Given the description of an element on the screen output the (x, y) to click on. 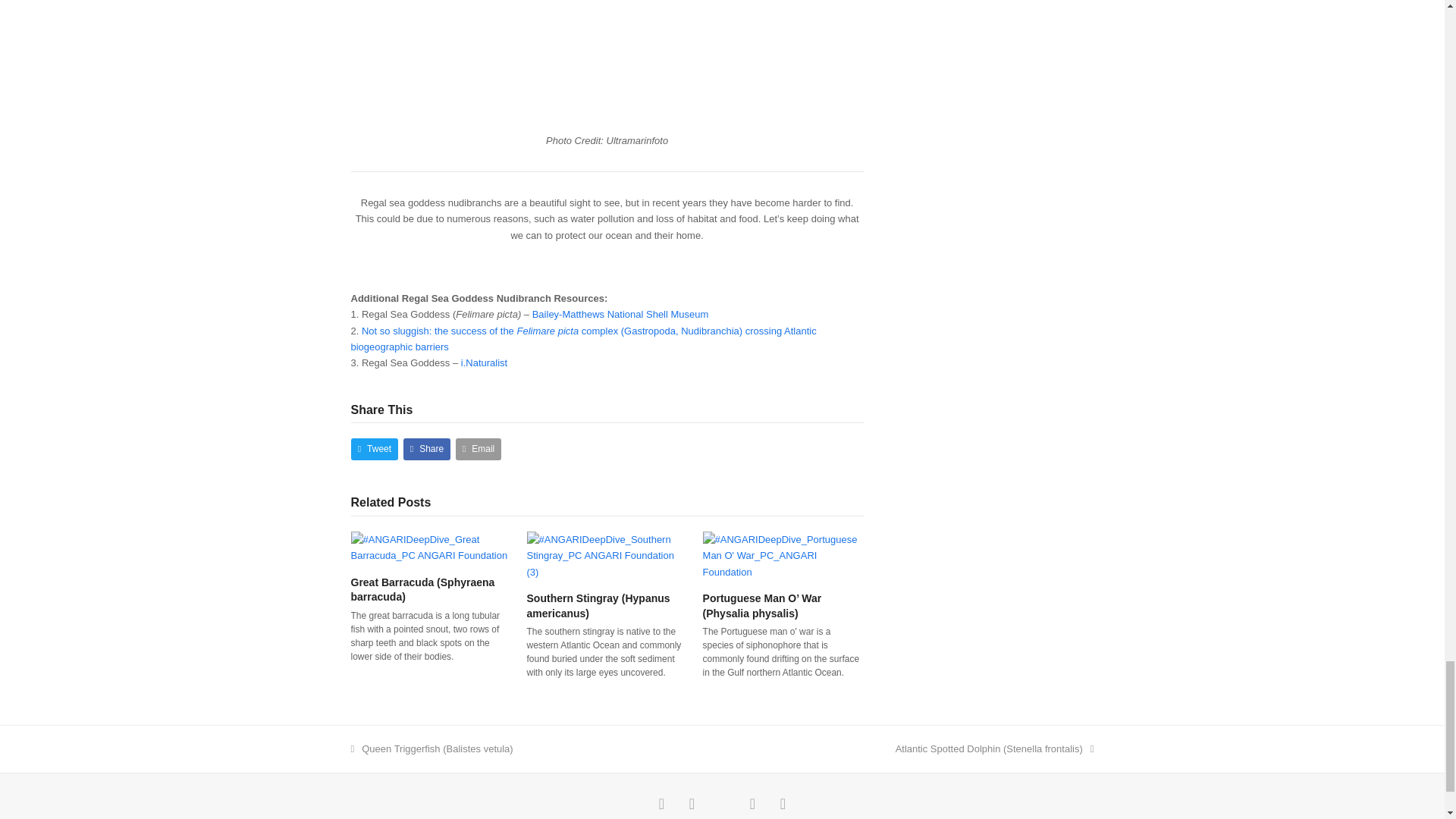
Youtube (751, 803)
Instagram (691, 803)
Twitter (721, 803)
Facebook (661, 803)
LinkedIn (782, 803)
